Given the description of an element on the screen output the (x, y) to click on. 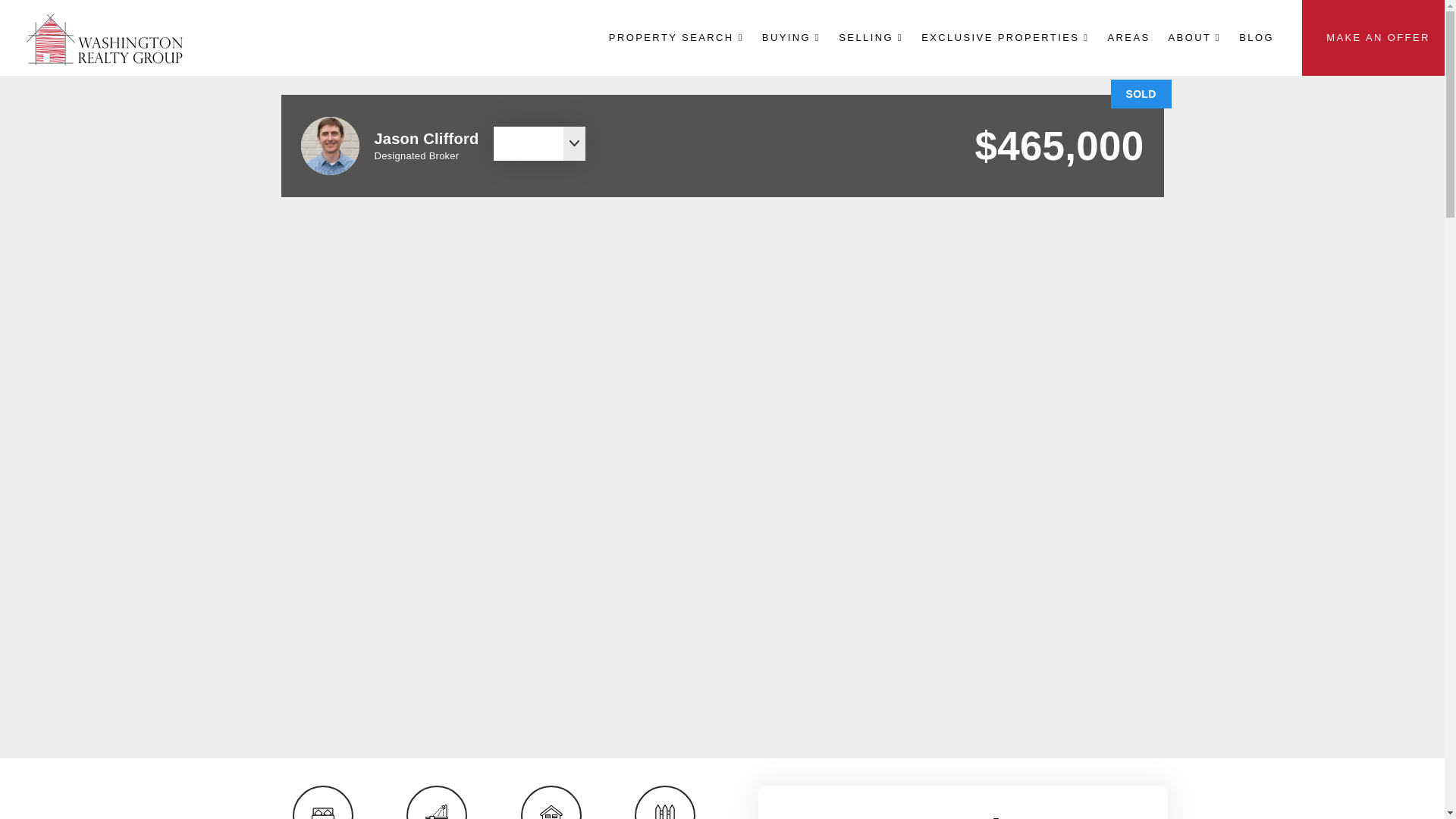
PROPERTY SEARCH (675, 37)
BUYING (790, 37)
AREAS (1127, 37)
SELLING (870, 37)
EXCLUSIVE PROPERTIES (1004, 37)
ABOUT (1194, 37)
